Given the description of an element on the screen output the (x, y) to click on. 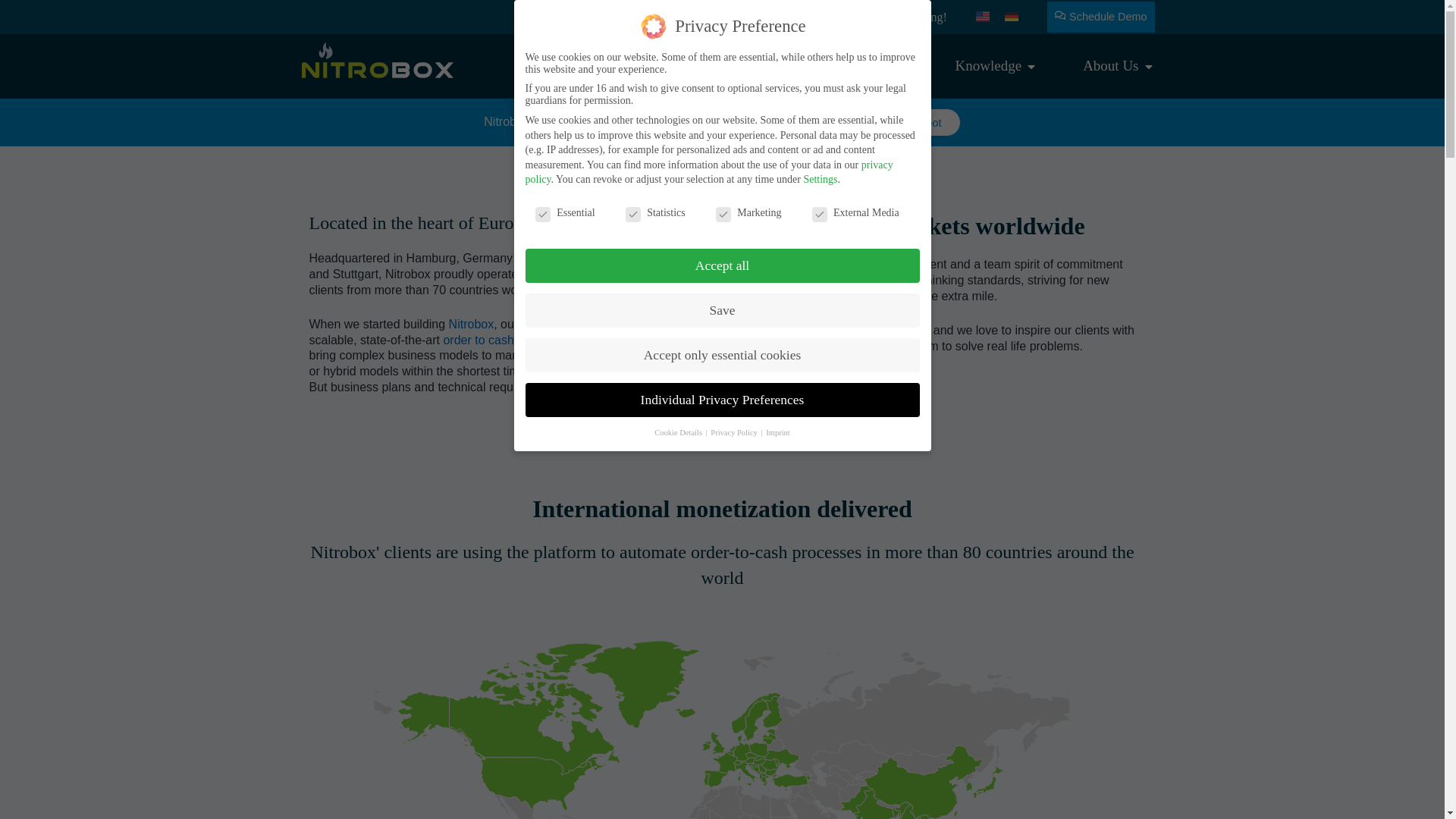
We are hiring! (912, 16)
Open Cookie Preferences (32, 799)
Schedule Demo (1100, 16)
